Given the description of an element on the screen output the (x, y) to click on. 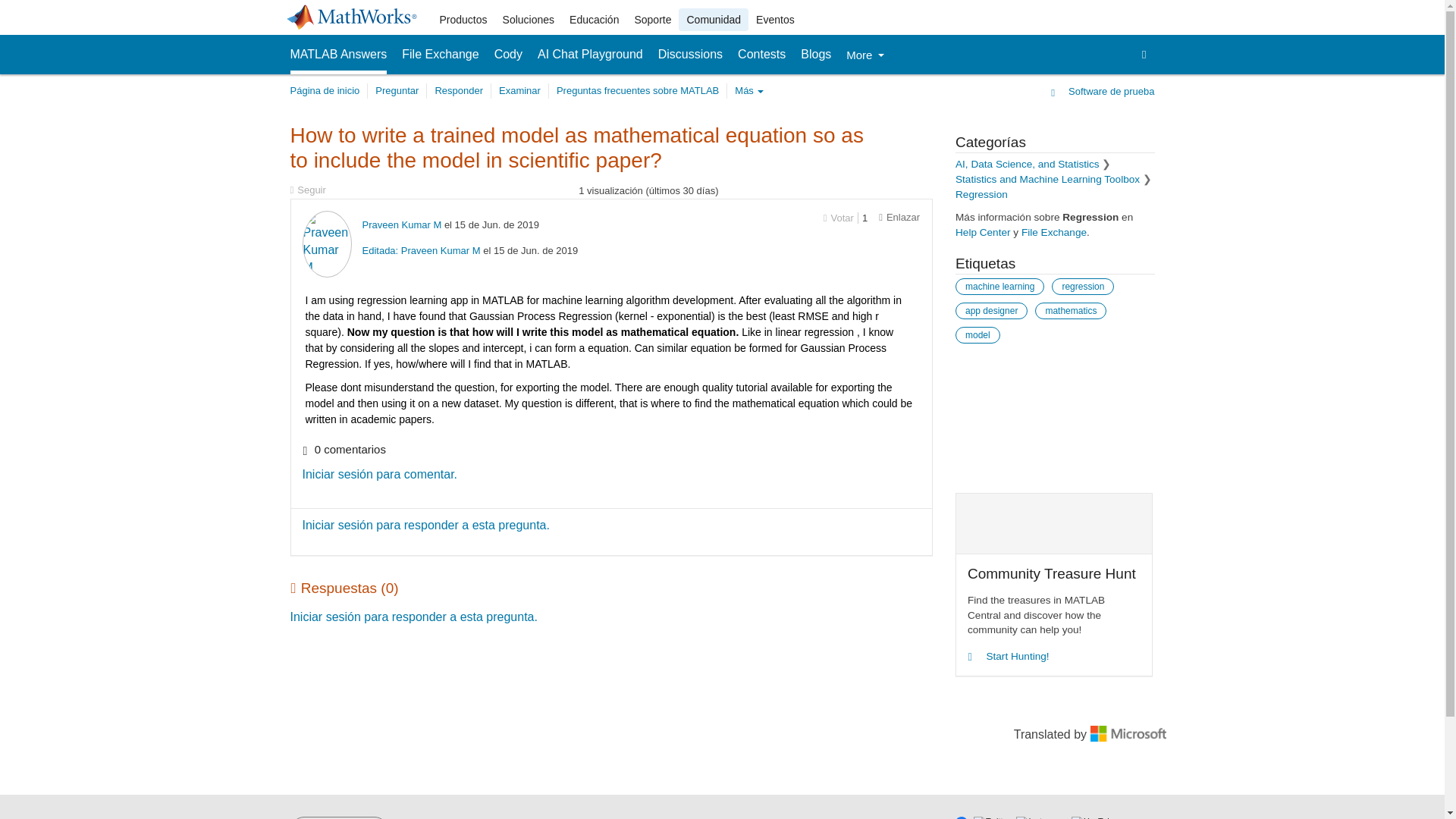
Contests (762, 54)
Discussions (690, 54)
Comunidad (713, 19)
Soporte (652, 19)
Eventos (775, 19)
More (864, 54)
Productos (463, 19)
Cody (508, 54)
Enlace directo a esta pregunta (899, 216)
AI Chat Playground (590, 54)
